Given the description of an element on the screen output the (x, y) to click on. 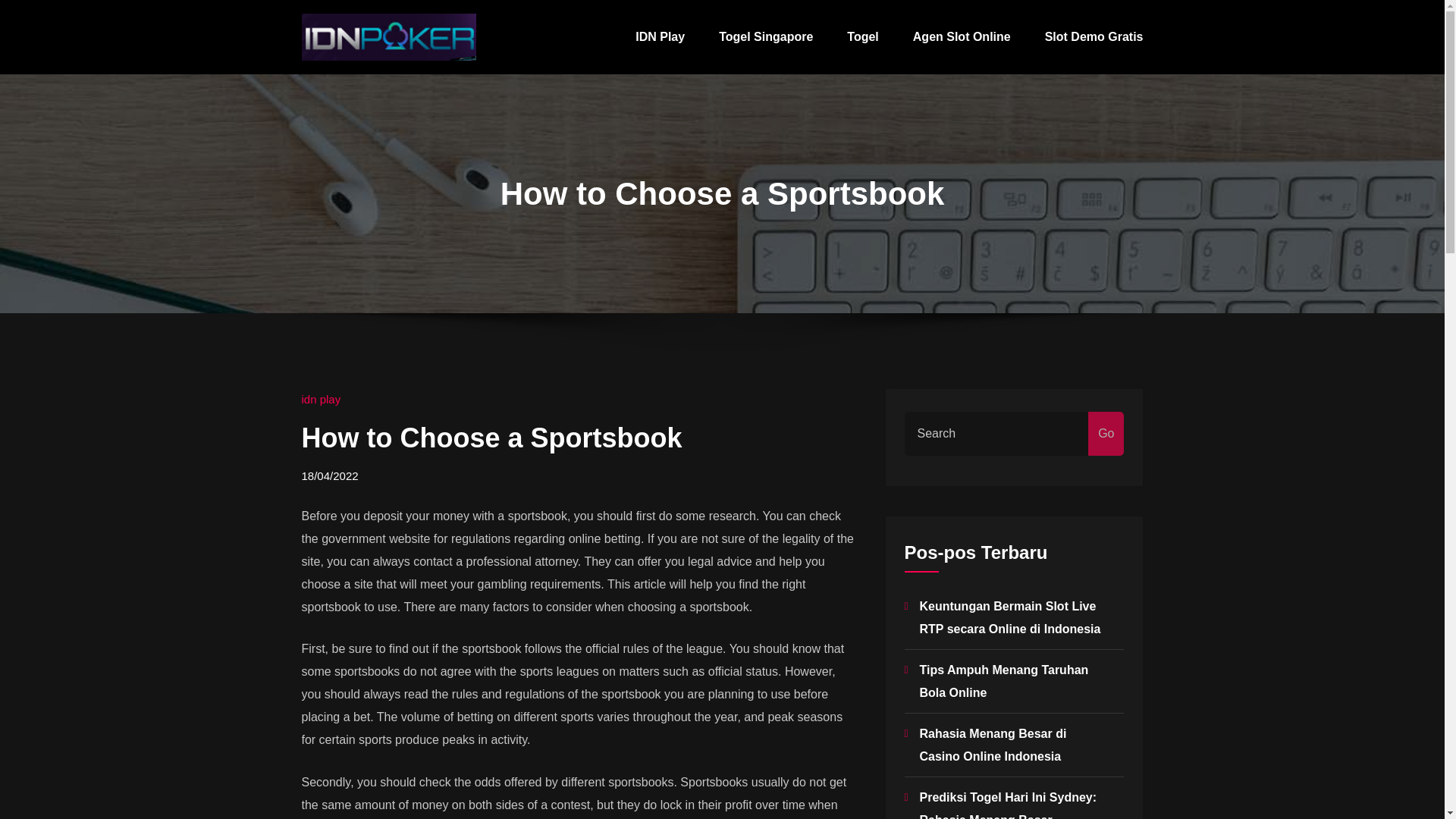
Keuntungan Bermain Slot Live RTP secara Online di Indonesia (1009, 617)
Tips Ampuh Menang Taruhan Bola Online (1002, 681)
Togel Singapore (765, 37)
Togel (862, 37)
Rahasia Menang Besar di Casino Online Indonesia (991, 744)
idn play (320, 399)
Slot Demo Gratis (1093, 37)
IDN Play (659, 37)
Prediksi Togel Hari Ini Sydney: Rahasia Menang Besar (1007, 805)
Agen Slot Online (961, 37)
